Given the description of an element on the screen output the (x, y) to click on. 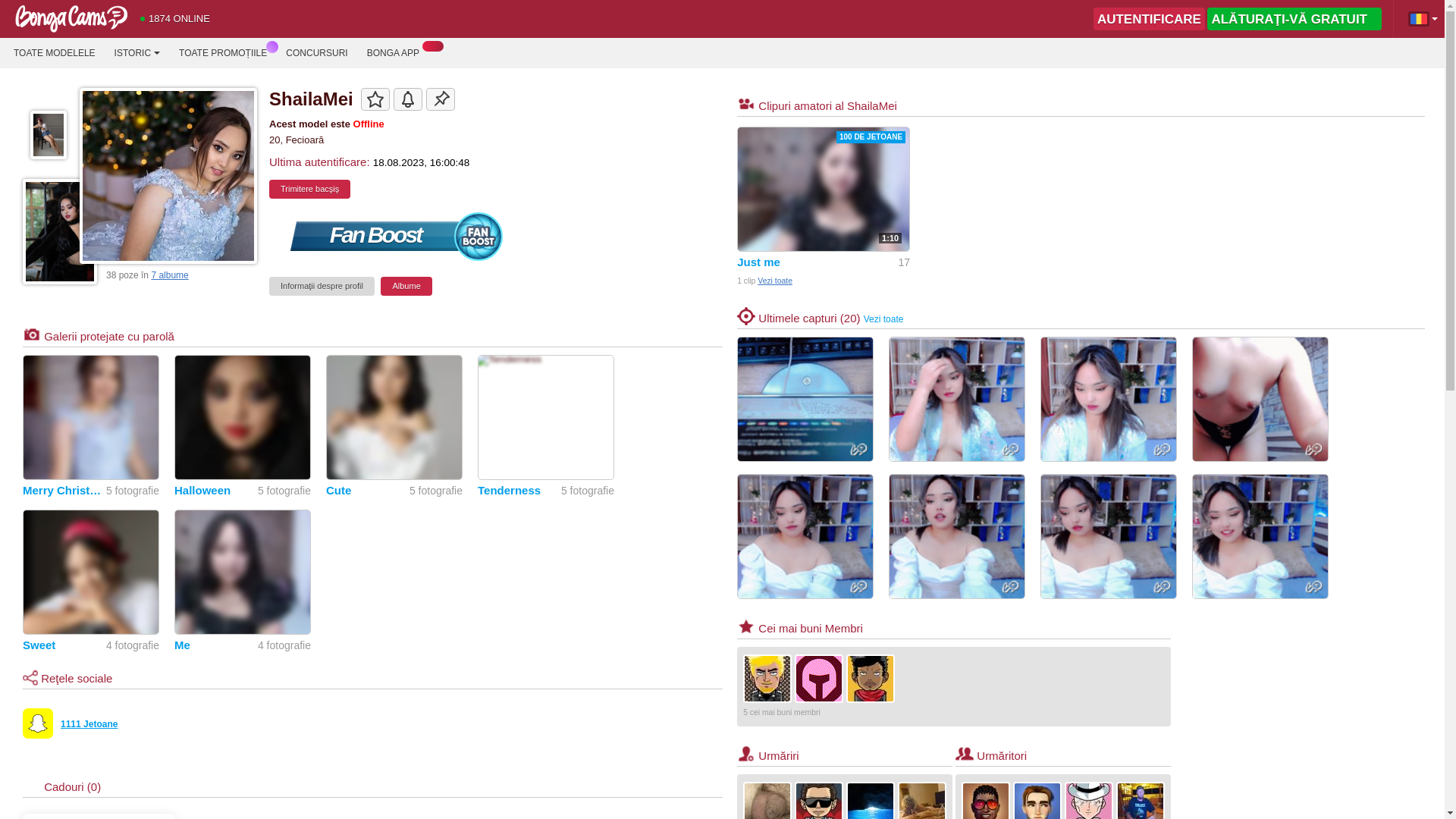
AUTENTIFICARE (1149, 18)
